Given the description of an element on the screen output the (x, y) to click on. 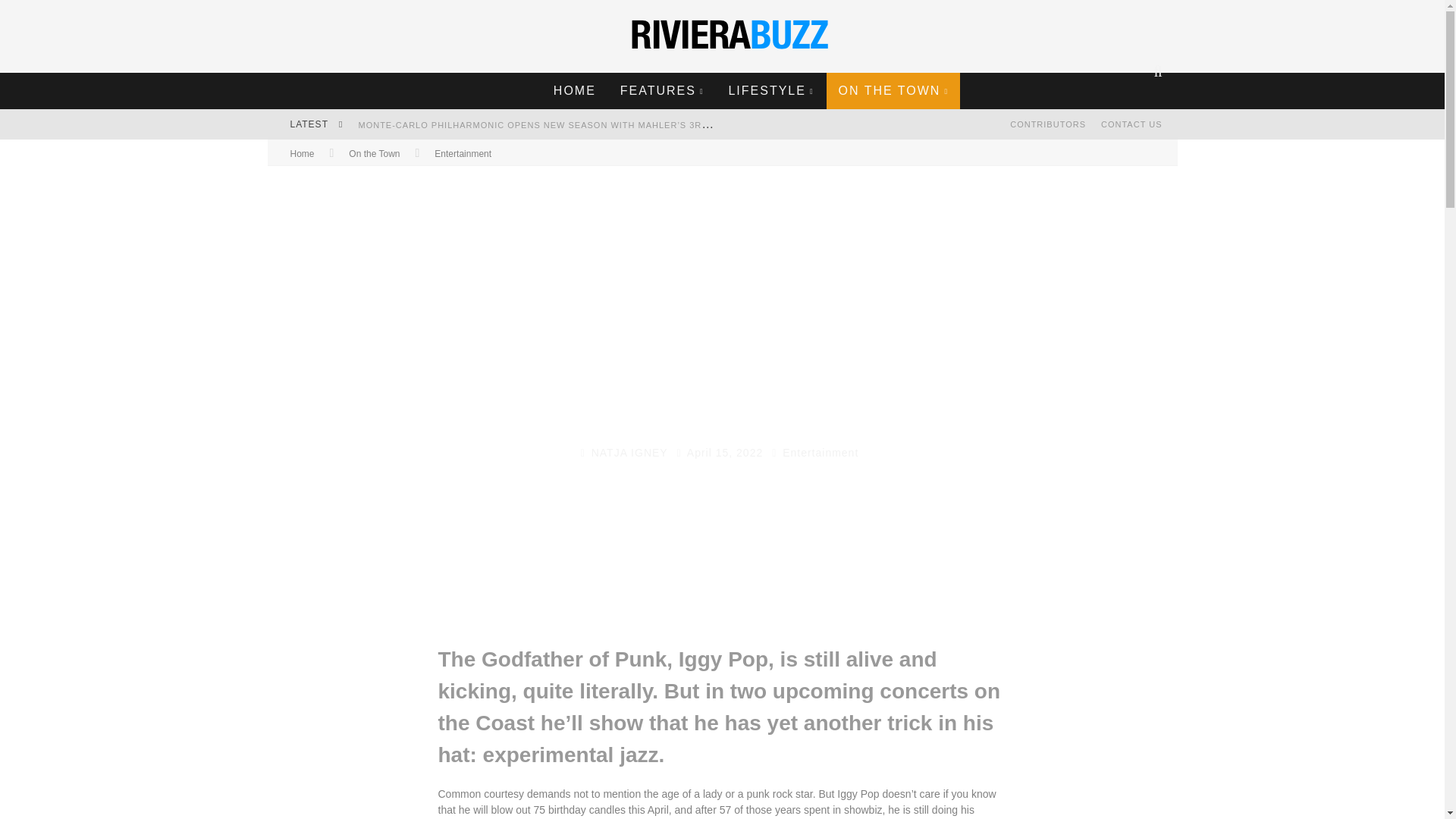
View all posts in Entertainment (462, 153)
HOME (574, 90)
View all posts in On the Town (373, 153)
View all posts in Entertainment (821, 452)
LIFESTYLE (770, 90)
FEATURES (662, 90)
